Given the description of an element on the screen output the (x, y) to click on. 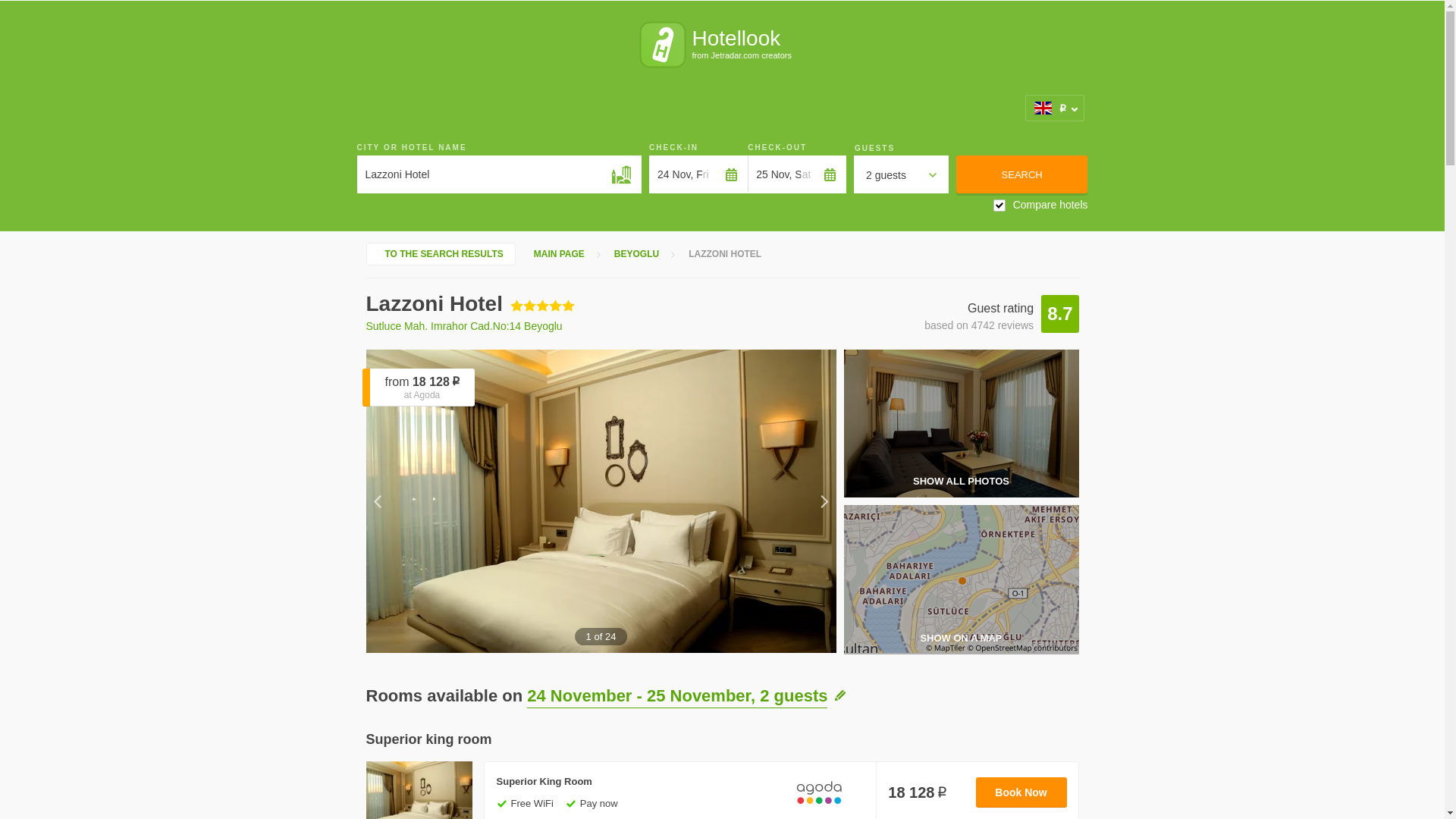
from 18 128
at Agoda Element type: text (419, 387)
SEARCH Element type: text (1022, 174)
TO THE SEARCH RESULTS Element type: text (439, 253)
BEYOGLU Element type: text (633, 254)
Hotellook
from Jetradar.com creators Element type: text (721, 44)
Book Now Element type: text (1020, 792)
MAIN PAGE Element type: text (555, 254)
